Given the description of an element on the screen output the (x, y) to click on. 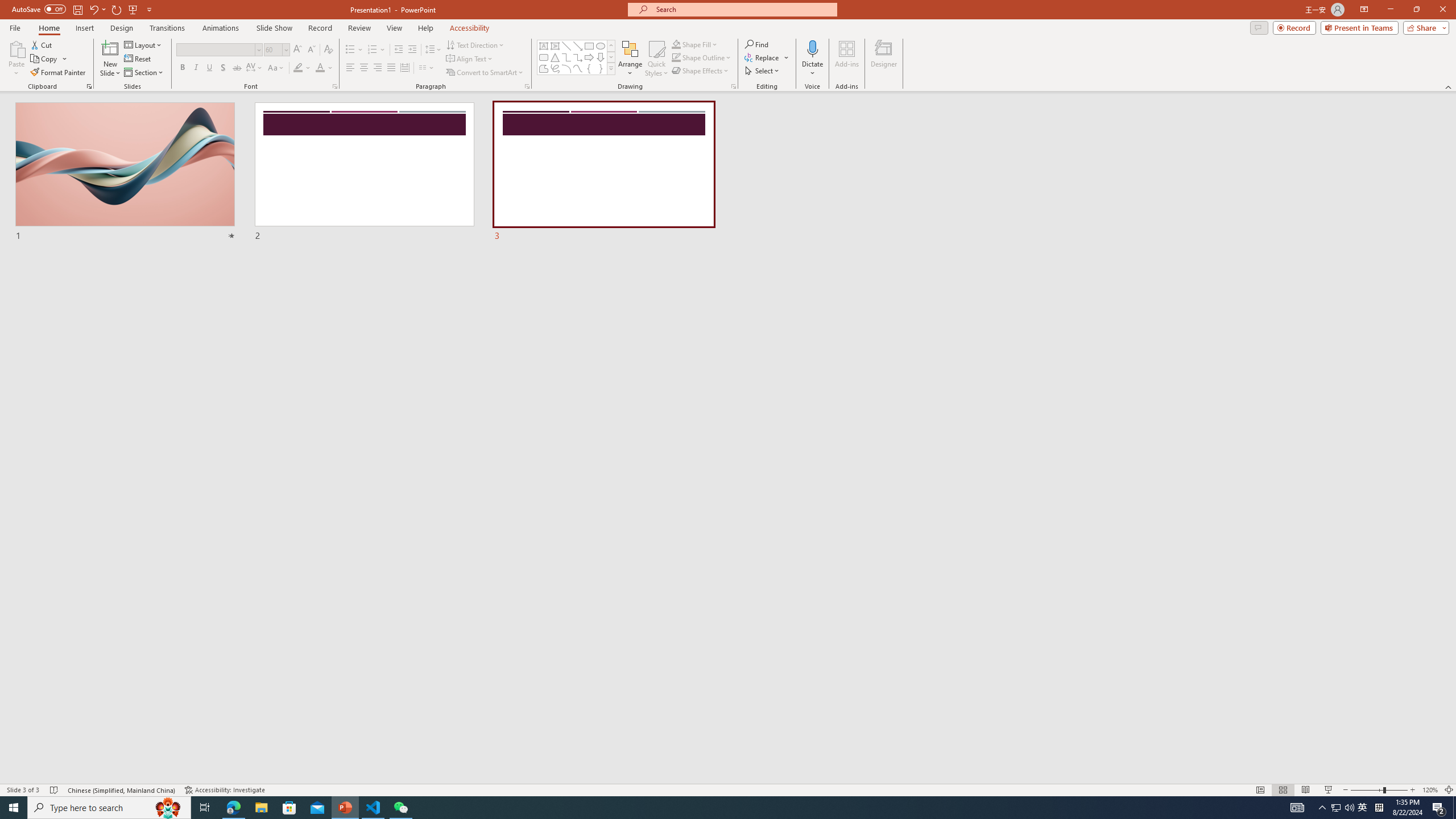
Strikethrough (237, 67)
Oval (600, 45)
Find... (756, 44)
Distributed (404, 67)
Vertical Text Box (554, 45)
Shadow (223, 67)
